Given the description of an element on the screen output the (x, y) to click on. 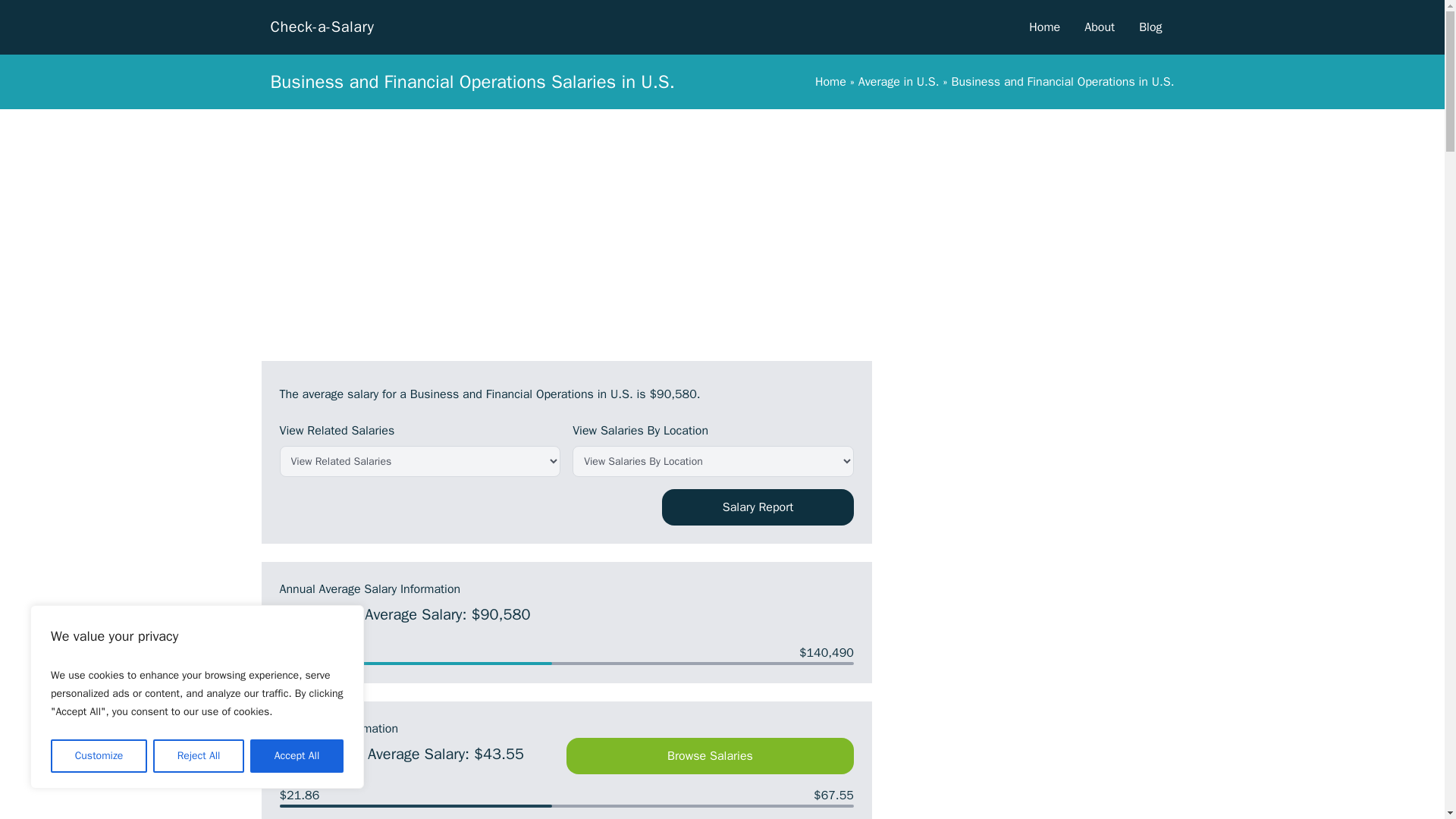
Average in U.S. (899, 81)
Blog (1149, 27)
Browse Salaries (709, 755)
Accept All (296, 756)
Home (1044, 27)
Check-a-Salary (321, 26)
Customize (98, 756)
Home (830, 81)
About (1099, 27)
Salary Report (757, 506)
